Given the description of an element on the screen output the (x, y) to click on. 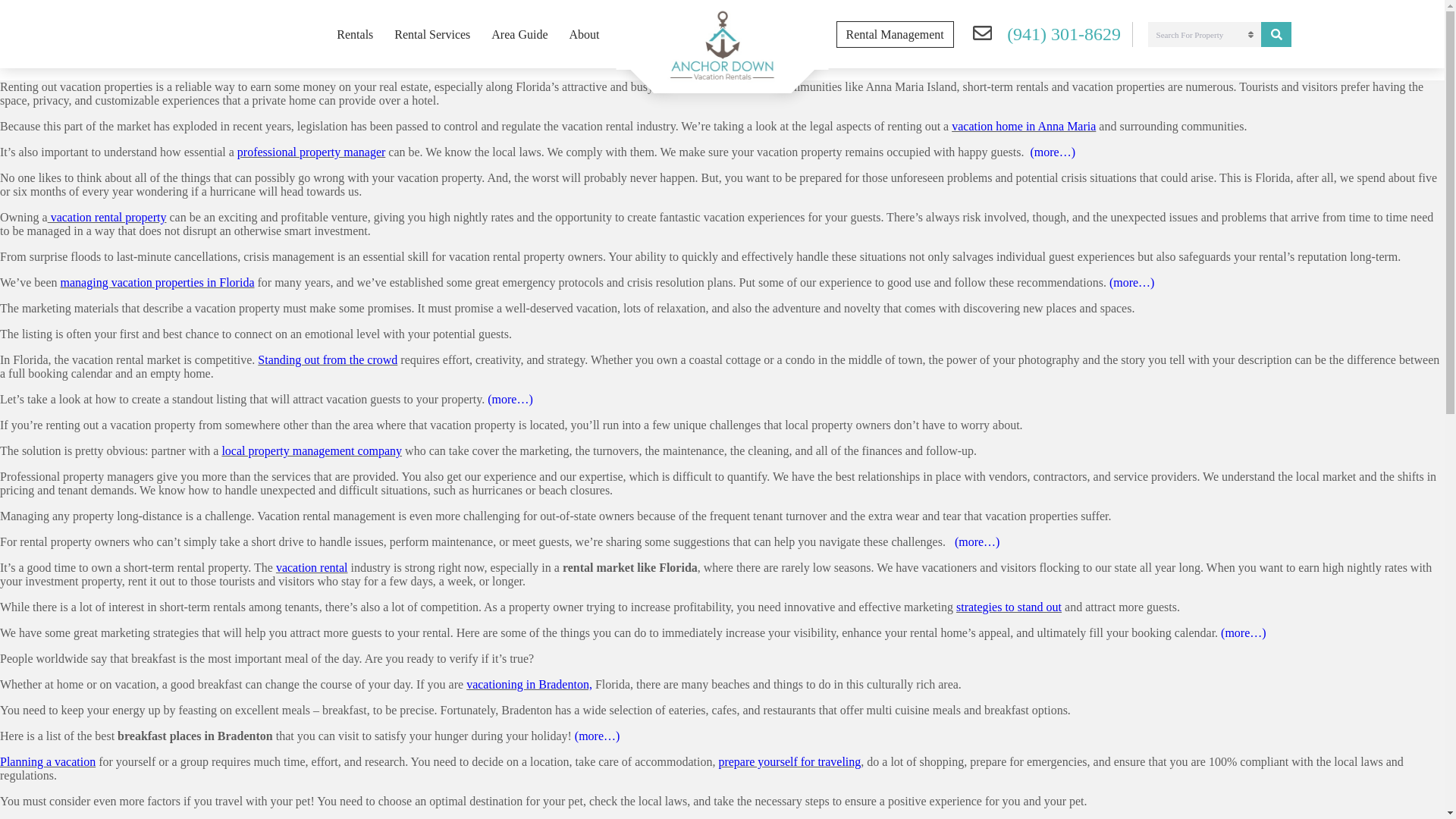
Anchor Down Vacation Rentals Logo (721, 45)
vacation rental property (107, 216)
About (583, 34)
Rental Management (894, 34)
managing vacation properties in Florida (157, 282)
Area Guide (518, 34)
local property management company (311, 450)
strategies to stand out (1008, 606)
professional property manager (311, 151)
Rentals (354, 34)
Rental Services (432, 34)
vacation home in Anna Maria (1024, 125)
Standing out from the crowd (327, 359)
vacation rental (311, 567)
